Given the description of an element on the screen output the (x, y) to click on. 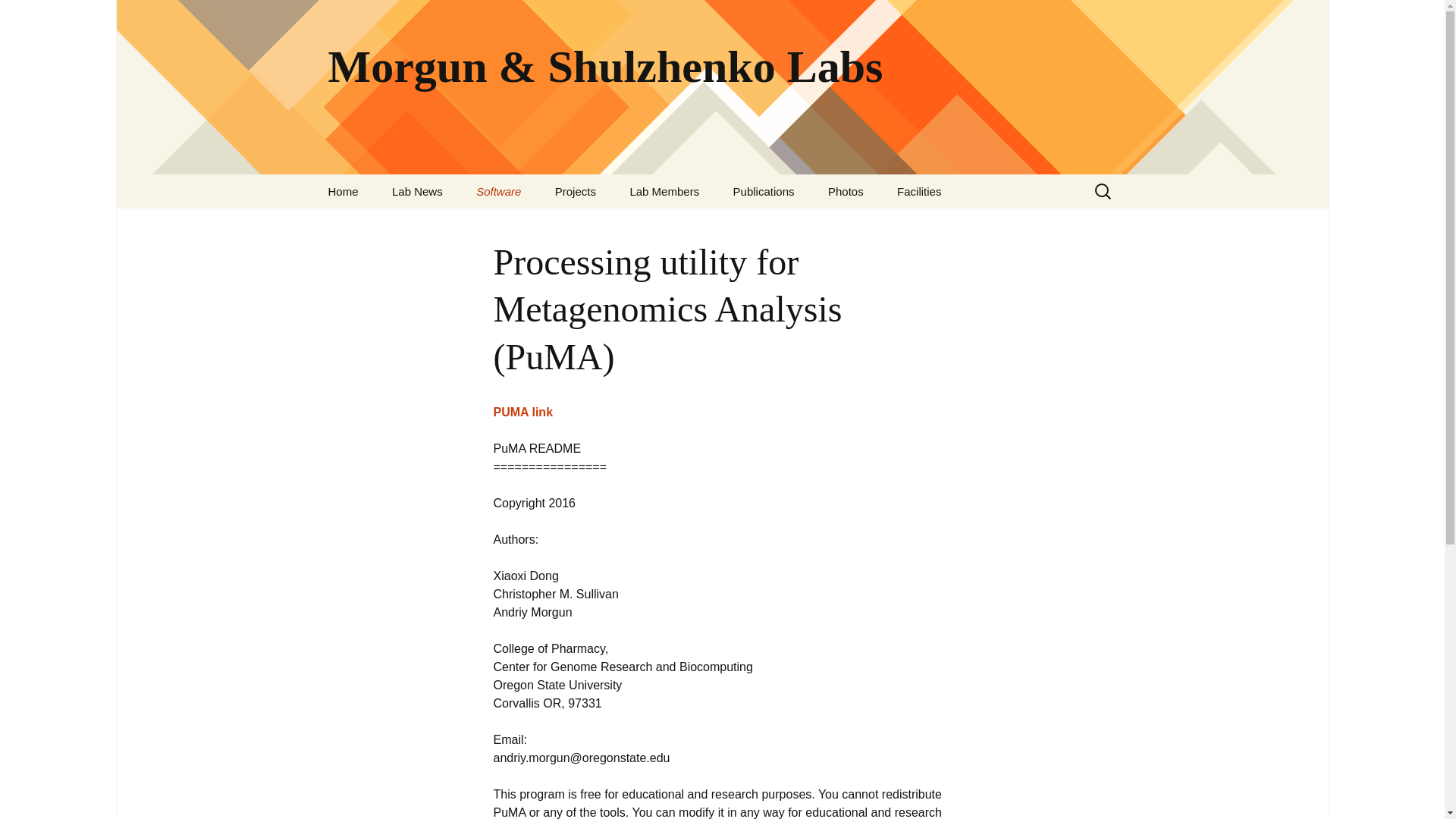
Publications (763, 191)
Lab News (417, 191)
Facilities (919, 191)
Home (342, 191)
PUMA link (523, 411)
Projects (575, 191)
Photos (845, 191)
Lab Members (664, 191)
Software (498, 191)
Search (18, 15)
